Given the description of an element on the screen output the (x, y) to click on. 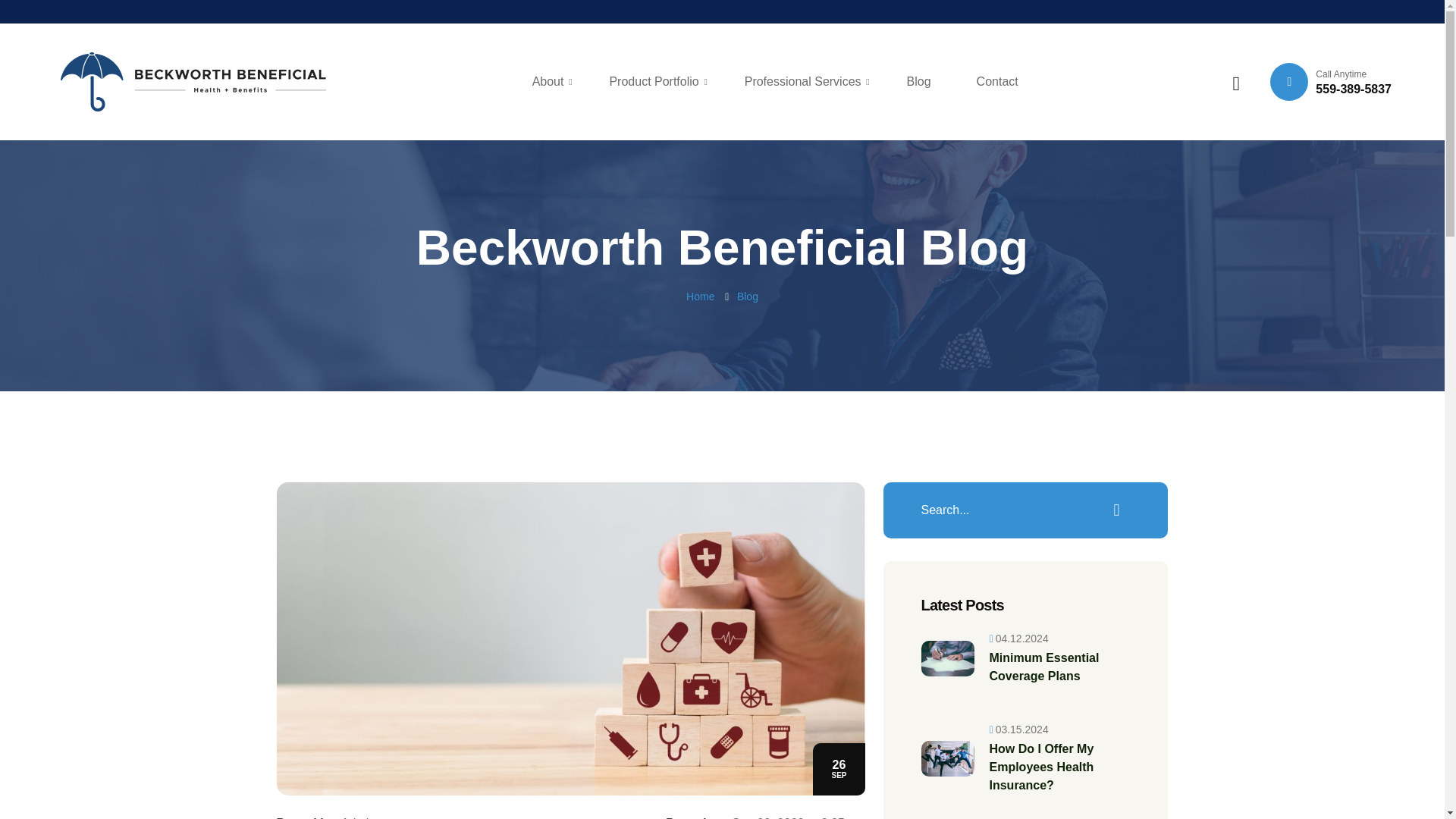
Product Portfolio (1330, 81)
Beckworth Beneficial (658, 81)
About (193, 81)
Contact (553, 81)
Professional Services (996, 81)
Blog (808, 81)
